Given the description of an element on the screen output the (x, y) to click on. 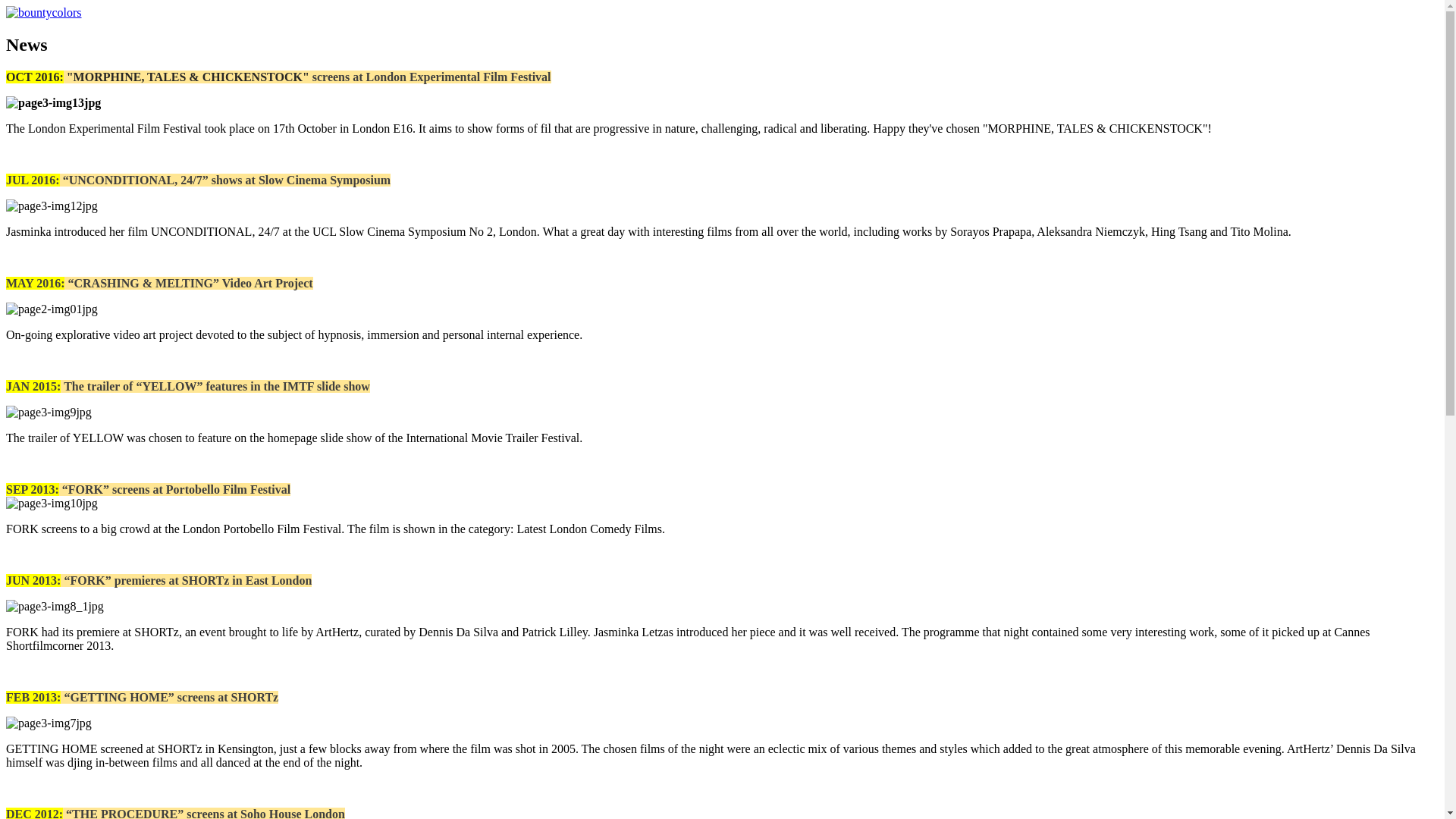
bountycolors (43, 12)
